Given the description of an element on the screen output the (x, y) to click on. 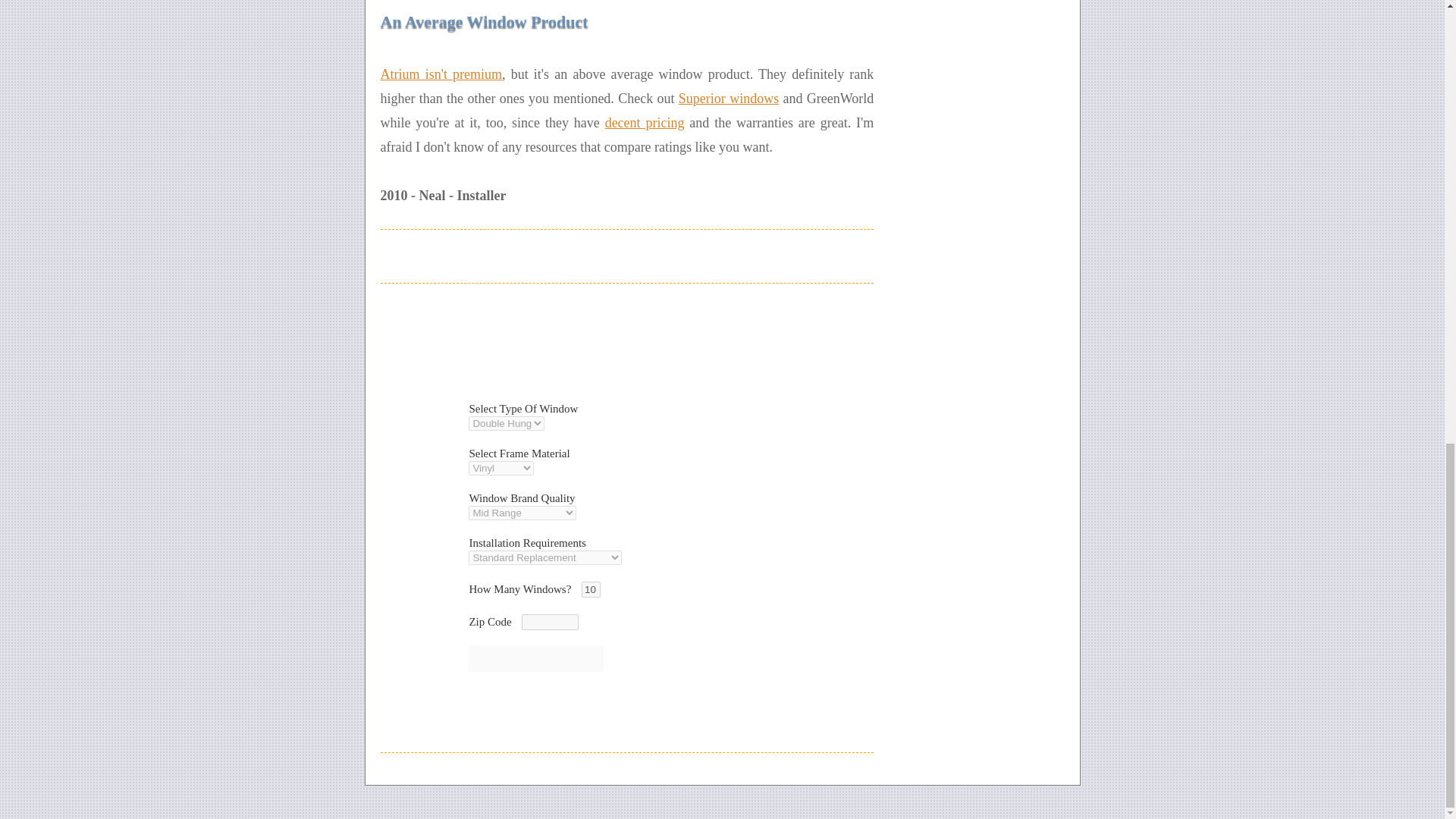
10 (589, 589)
Superior windows (728, 98)
decent pricing (644, 122)
Atrium isn't premium (441, 73)
